Given the description of an element on the screen output the (x, y) to click on. 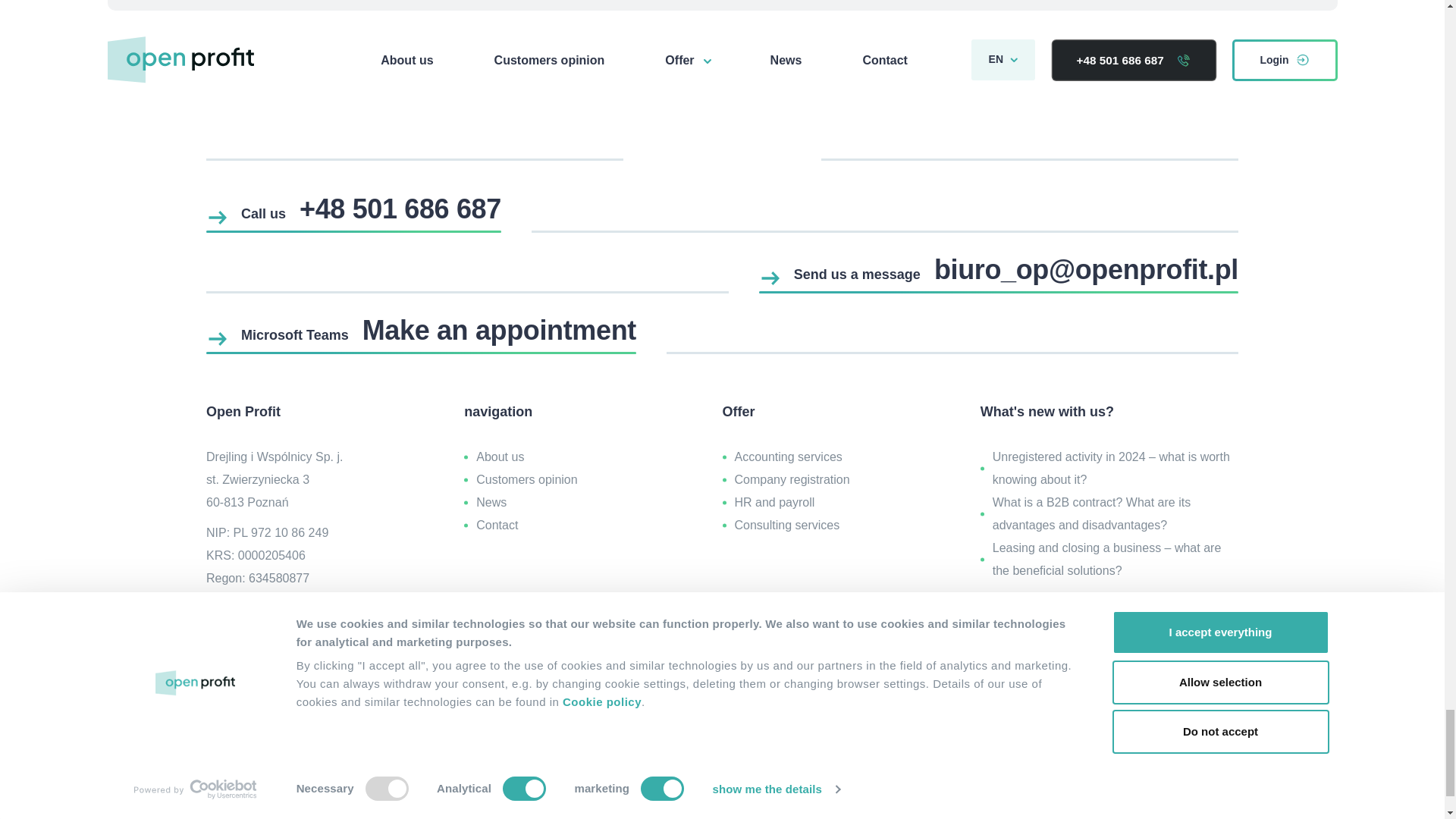
accounting and tax office, online accounting services (722, 630)
